Given the description of an element on the screen output the (x, y) to click on. 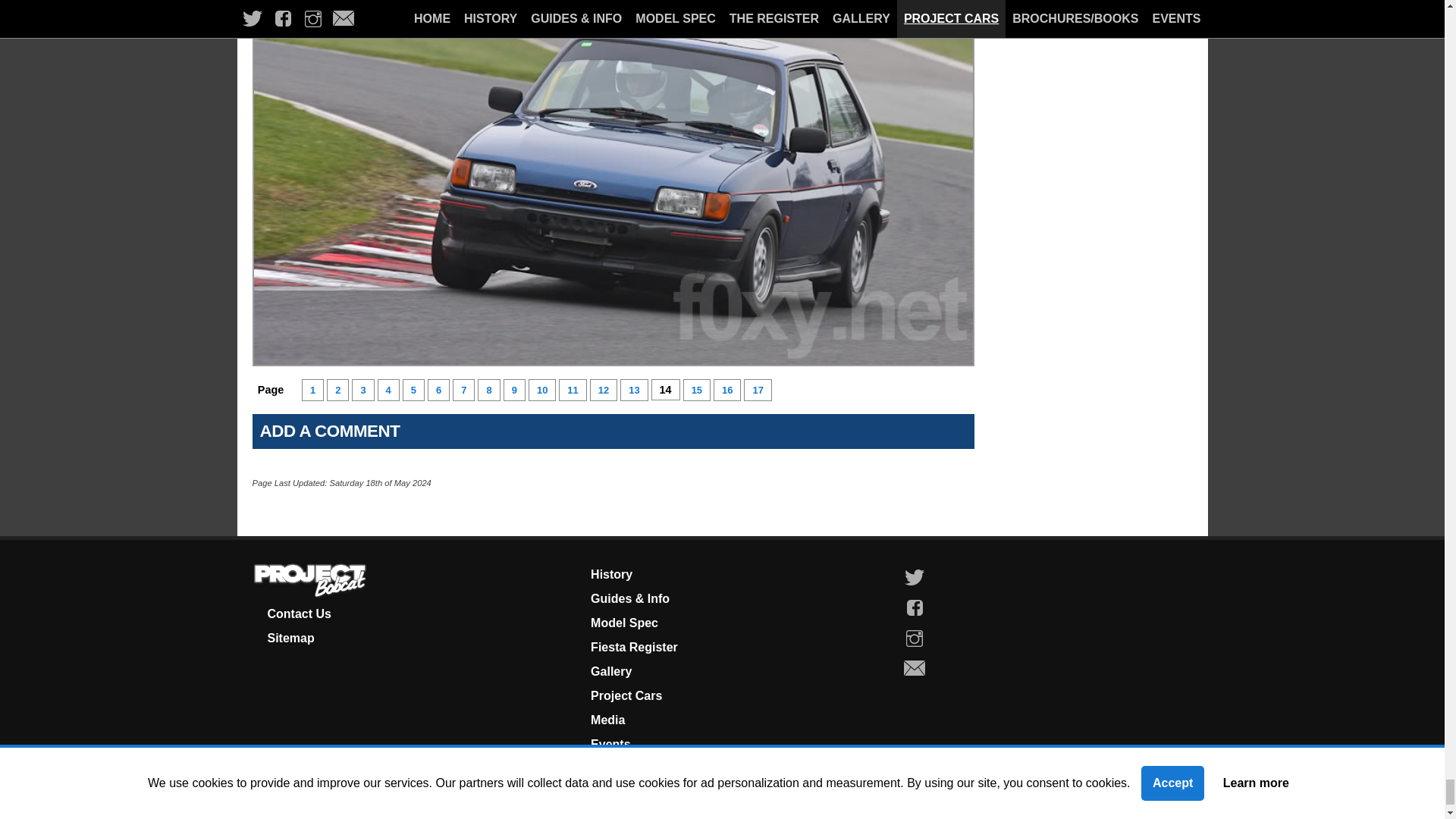
project bobcat sitemap (290, 637)
Project Bobcat Instagram (914, 638)
Project Bobcat Twitter (914, 577)
contact project bobcat (298, 613)
Project Bobcat Facebook (914, 607)
Email Project Bobcat (914, 668)
